Given the description of an element on the screen output the (x, y) to click on. 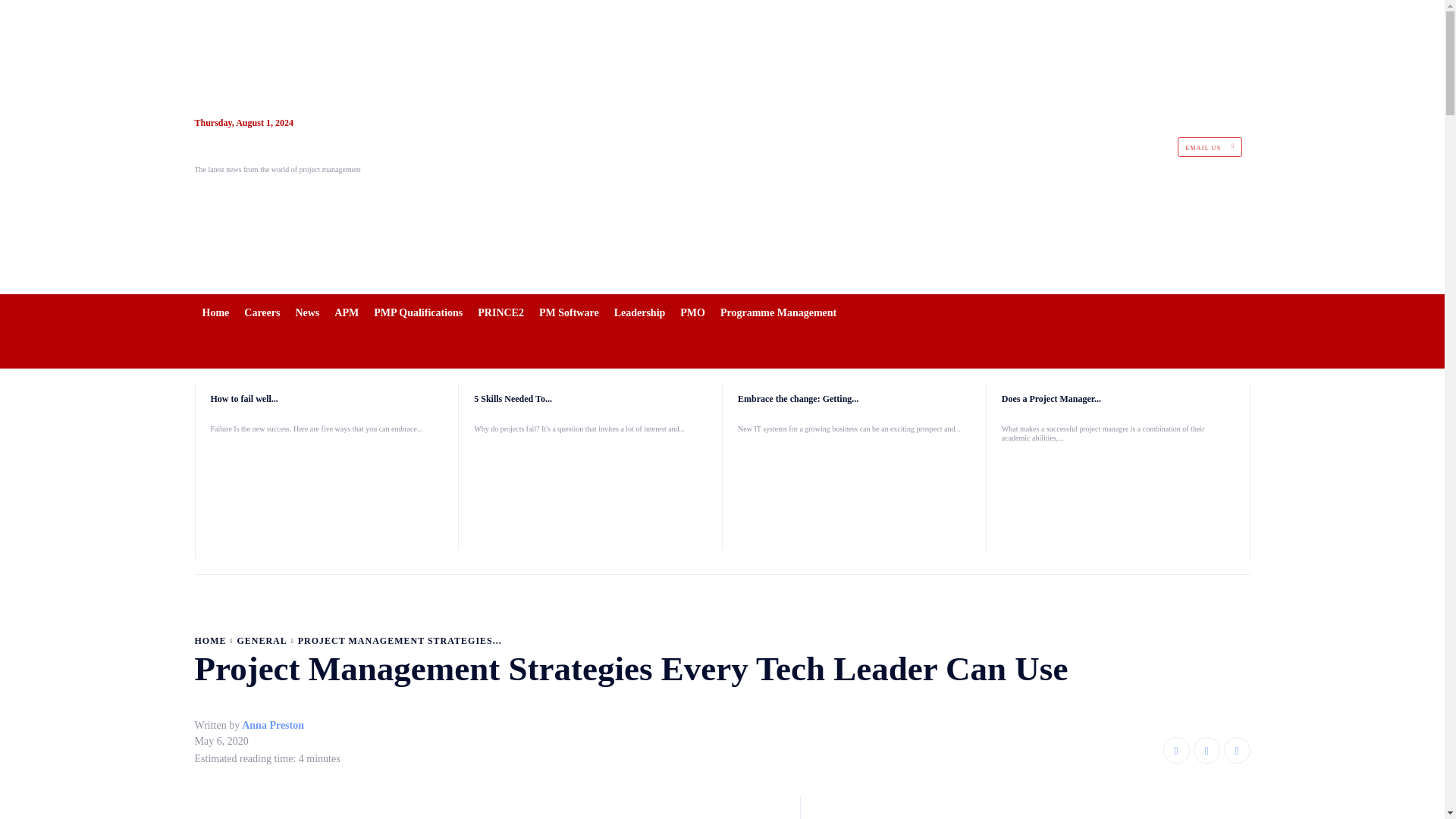
Embrace the change: Getting to grips with new IT systems (854, 491)
Embrace the change: Getting to grips with new IT systems (798, 398)
How to fail well in IT Projects (327, 491)
Does a Project Manager Need PM Qualifications? (1117, 500)
5 Skills Needed To Drive Future Projects (512, 398)
How to fail well in IT Projects (244, 398)
Does a Project Manager Need PM Qualifications? (1050, 398)
Email us (1209, 147)
5 Skills Needed To Drive Future Projects (590, 491)
